Given the description of an element on the screen output the (x, y) to click on. 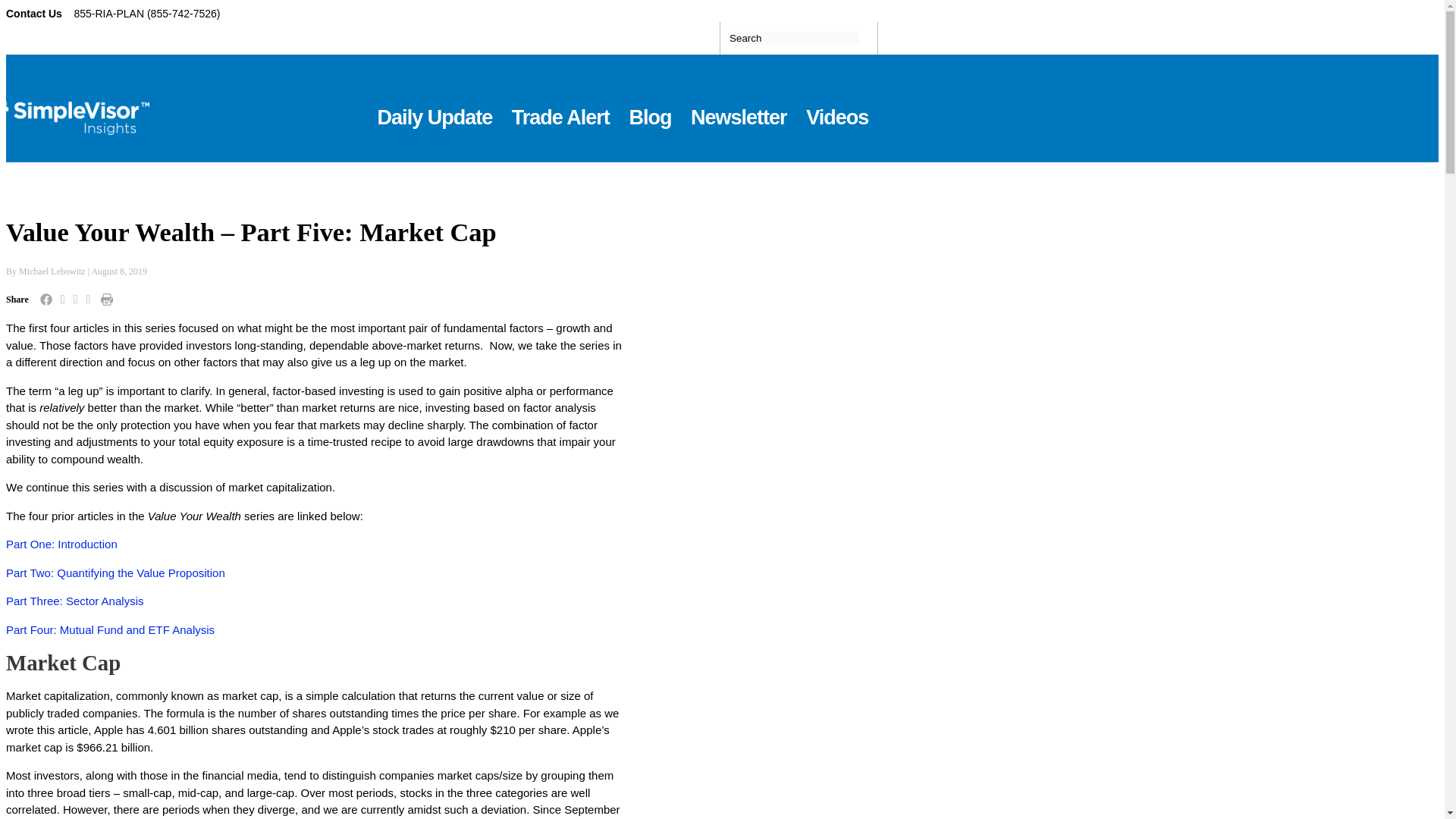
Daily Update (435, 108)
Part Two: Quantifying the Value Proposition (115, 573)
Trade Alert (561, 108)
Part One: Introduction (61, 544)
Contact Us (35, 13)
Part Three: Sector Analysis (73, 601)
Part Four: Mutual Fund and ETF Analysis (109, 630)
Newsletter (738, 108)
